Given the description of an element on the screen output the (x, y) to click on. 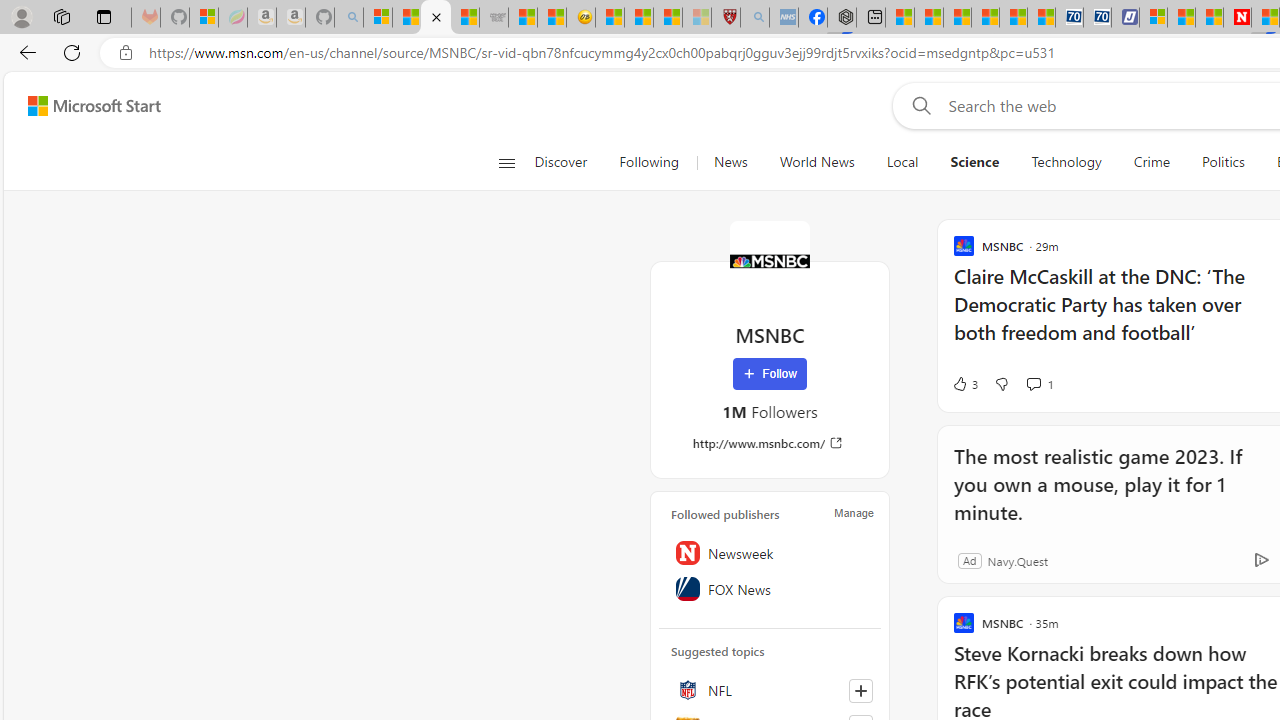
Cheap Hotels - Save70.com (1097, 17)
Follow this topic (860, 690)
Science (974, 162)
Newsweek (770, 552)
Newsweek - News, Analysis, Politics, Business, Technology (1236, 17)
Skip to content (86, 105)
Science (975, 162)
Microsoft-Report a Concern to Bing (203, 17)
